Given the description of an element on the screen output the (x, y) to click on. 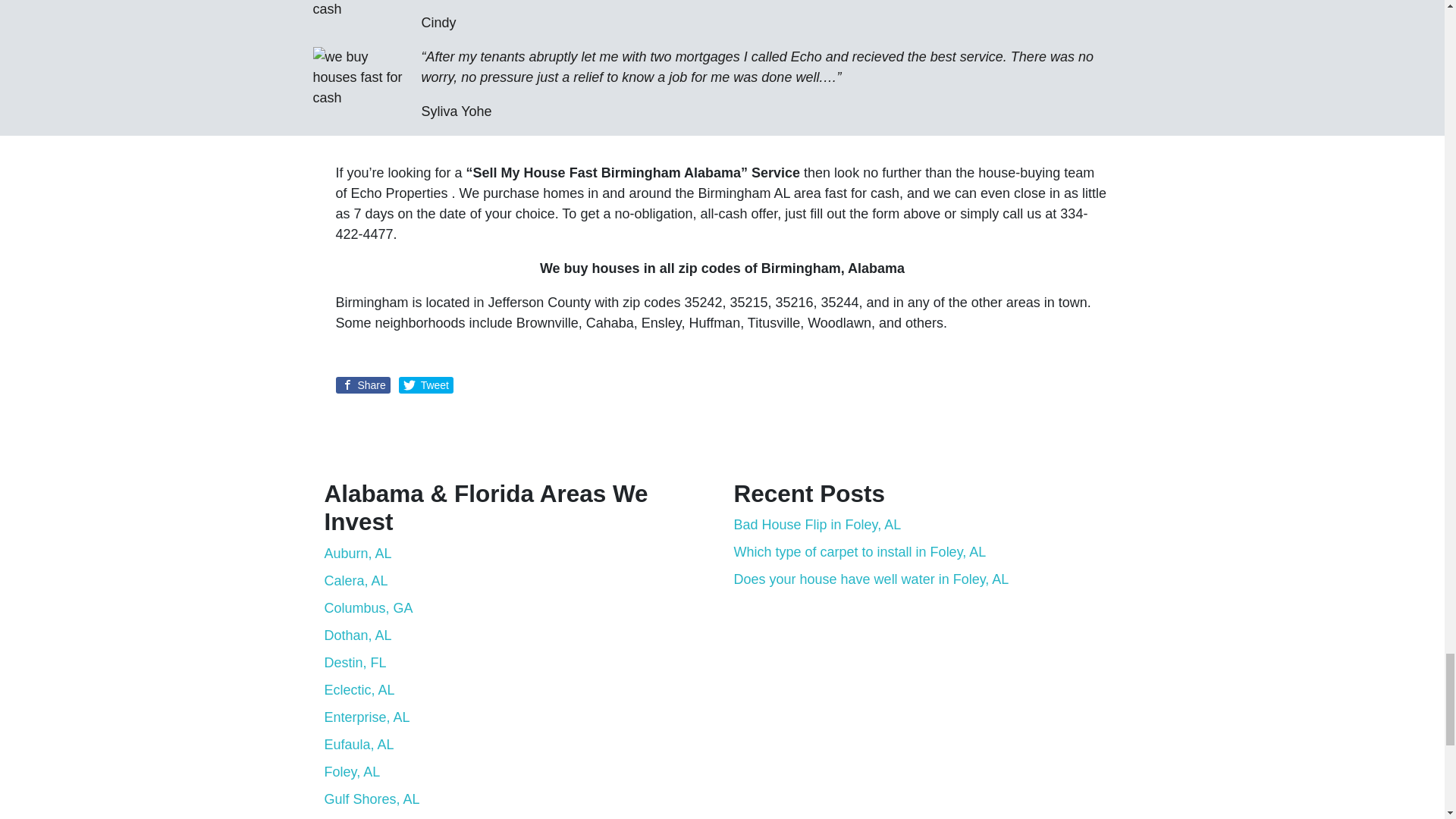
Share on Facebook (362, 384)
Share on Twitter (425, 384)
